Given the description of an element on the screen output the (x, y) to click on. 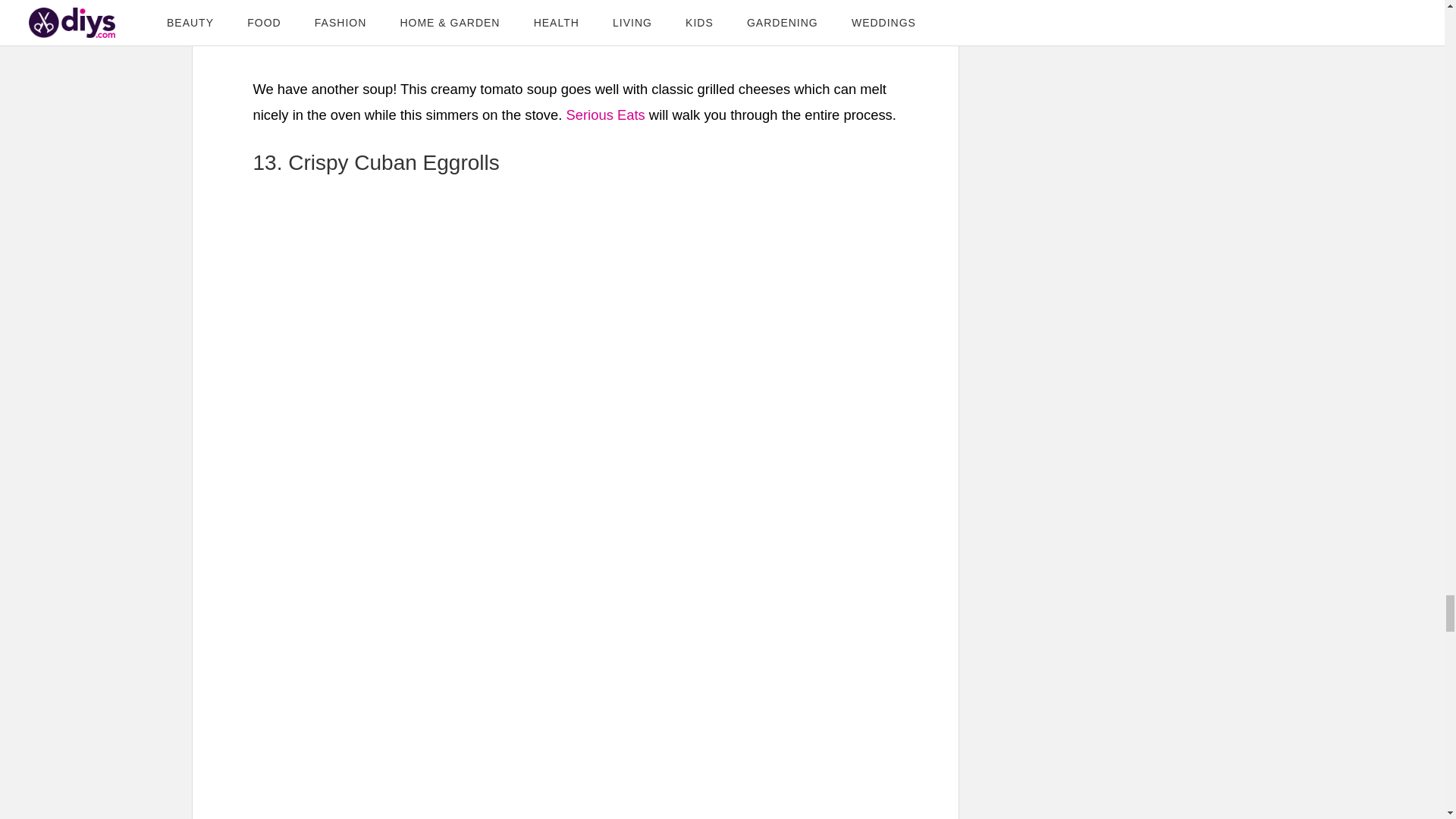
Serious Eats (605, 114)
